Given the description of an element on the screen output the (x, y) to click on. 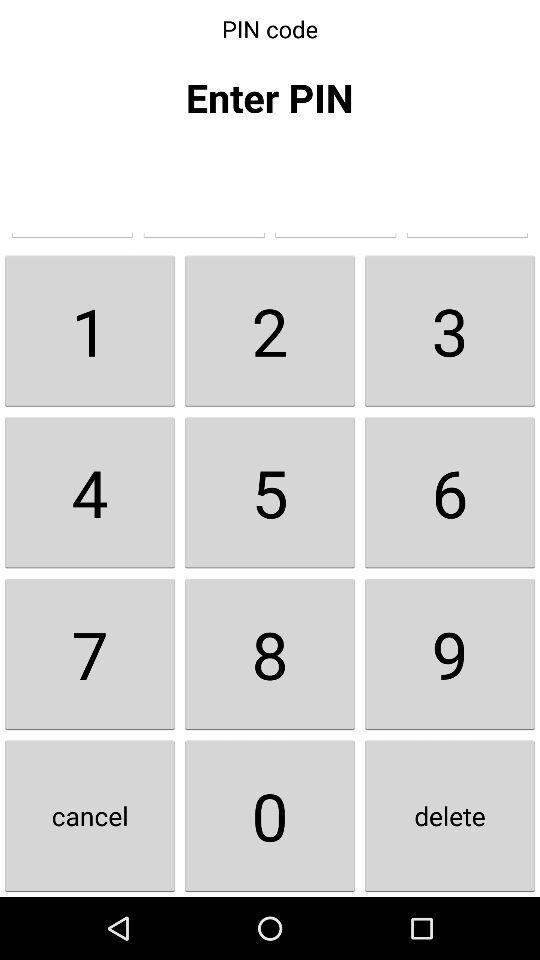
choose the button above 4 button (270, 330)
